Given the description of an element on the screen output the (x, y) to click on. 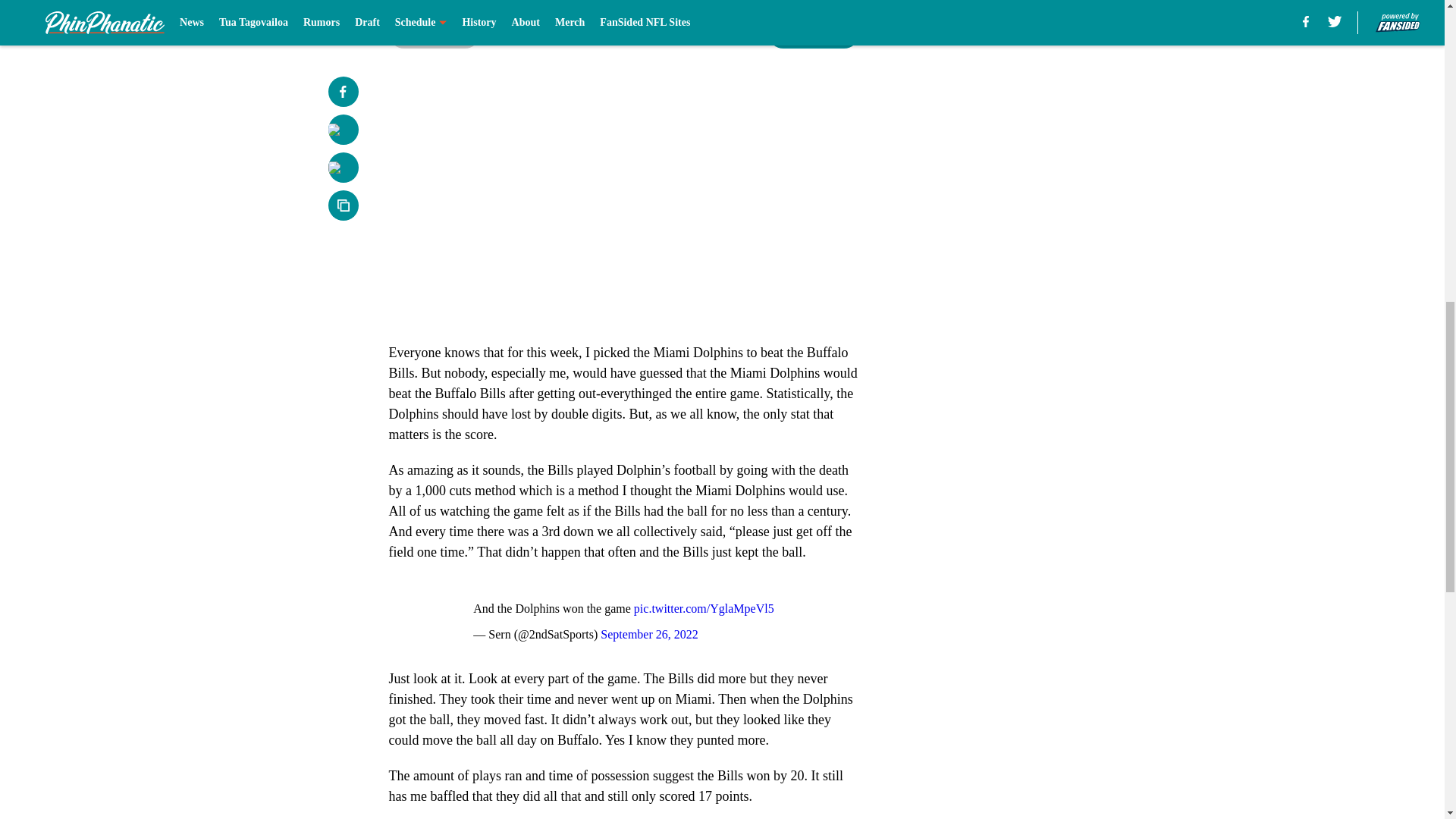
Next (813, 33)
September 26, 2022 (648, 634)
Prev (433, 33)
